Given the description of an element on the screen output the (x, y) to click on. 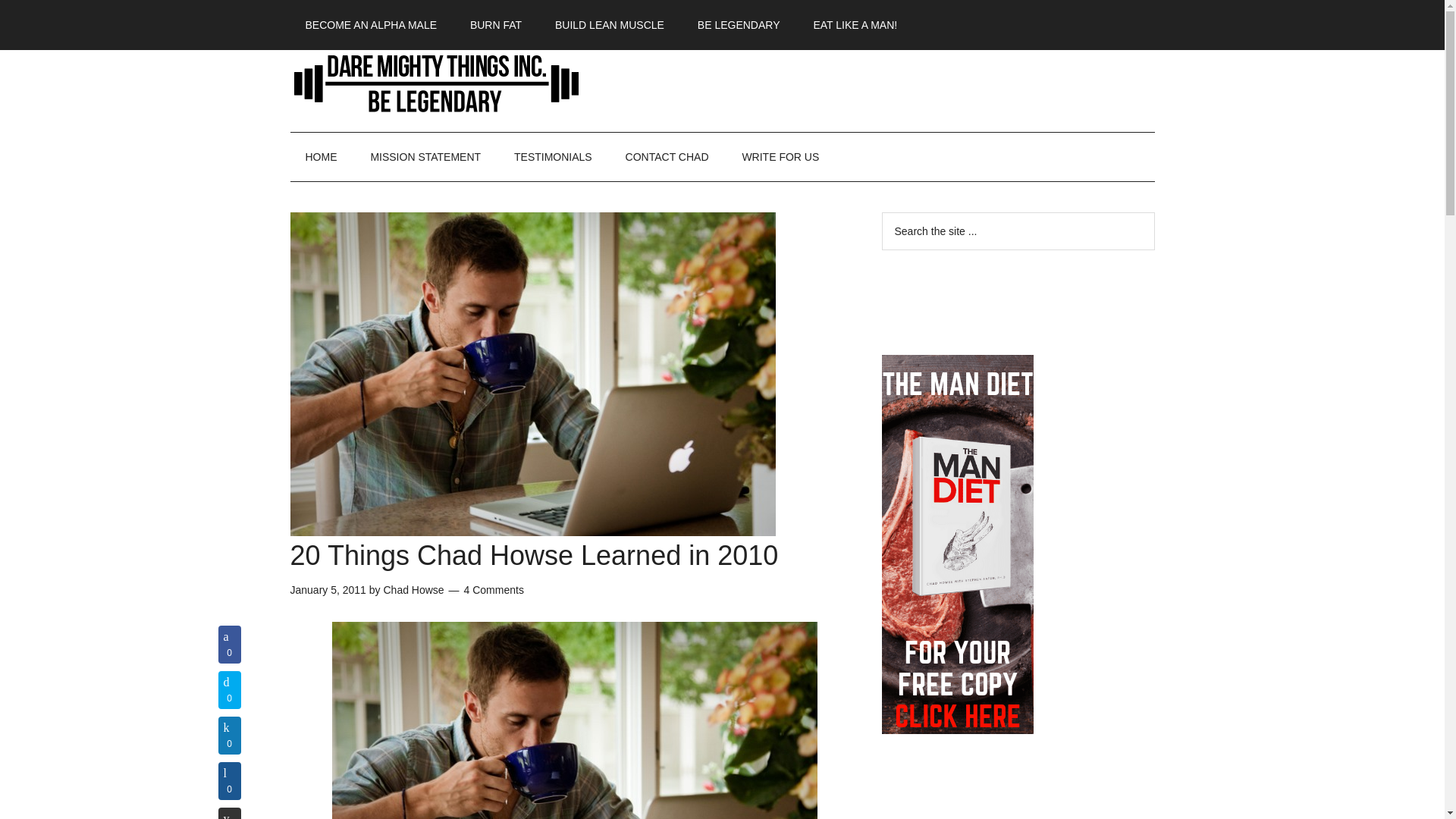
TESTIMONIALS (553, 156)
BURN FAT (495, 24)
BE LEGENDARY (738, 24)
CONTACT CHAD (666, 156)
chad-howse-70 (573, 720)
EAT LIKE A MAN! (854, 24)
MISSION STATEMENT (425, 156)
Chad Howse (413, 589)
WRITE FOR US (780, 156)
